Given the description of an element on the screen output the (x, y) to click on. 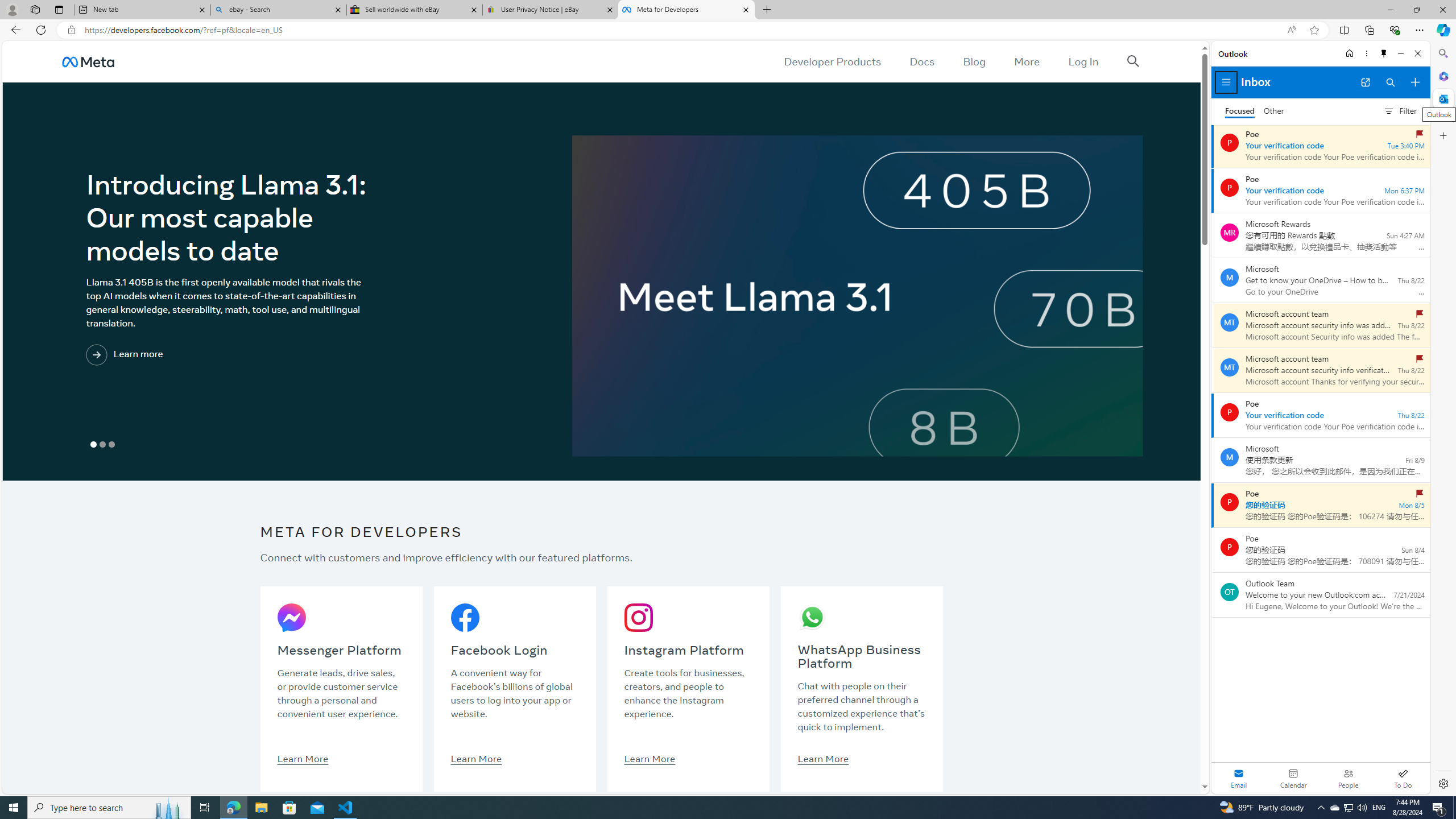
User Privacy Notice | eBay (550, 9)
Show Slide 2 (102, 444)
Learn more (171, 355)
Open in new tab (1365, 82)
Side bar (1443, 418)
Developer Products (832, 61)
Show Slide 1 (93, 444)
Compose new mail (1414, 82)
